Given the description of an element on the screen output the (x, y) to click on. 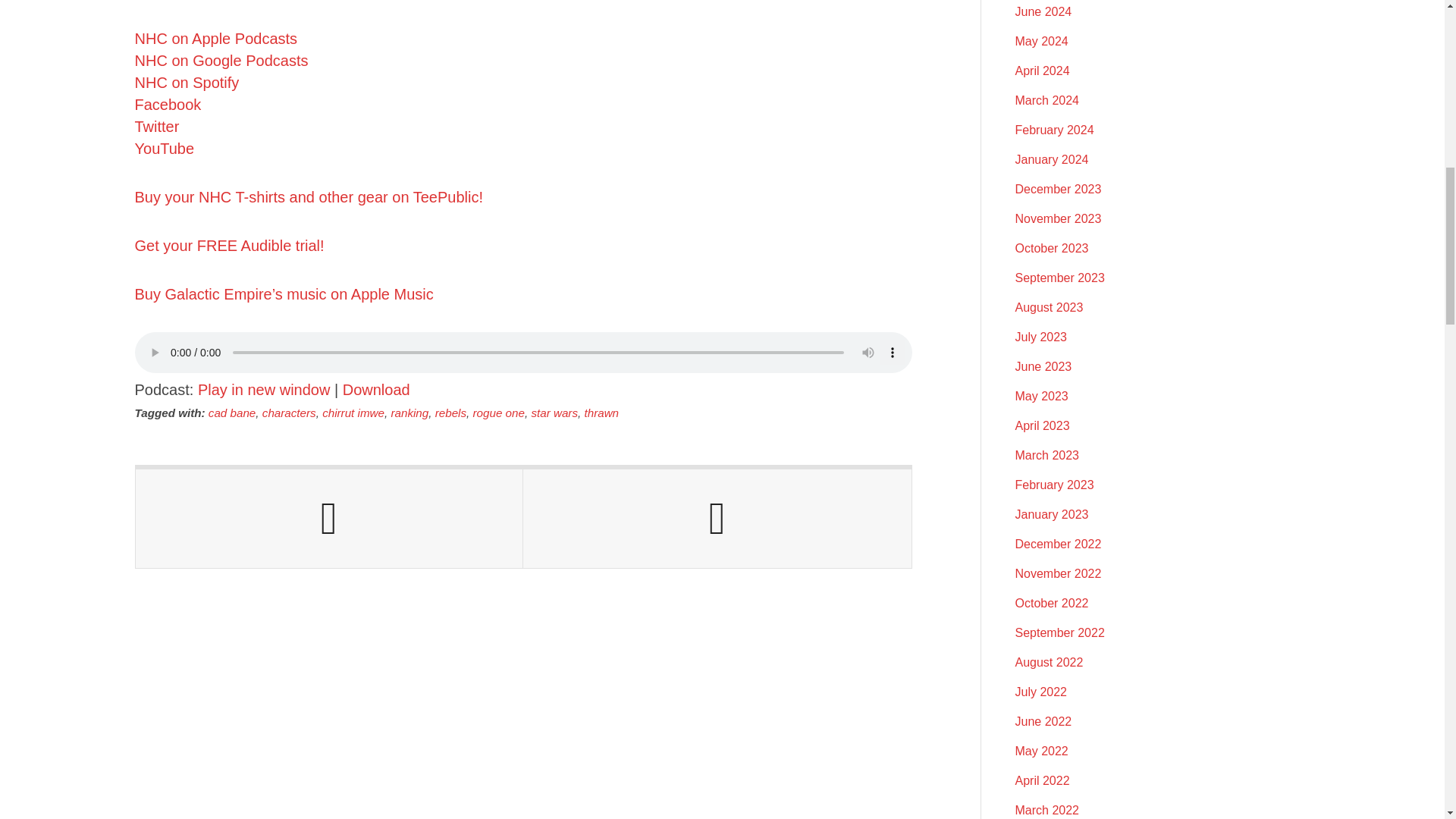
The Nerfherdfer Council on YouTube (165, 148)
Download (376, 389)
Get your free trial of Audible! (229, 245)
NHC on Spotify (187, 82)
ranking (409, 412)
Download (376, 389)
The Nerfherder Council on Spotify Podcasts (187, 82)
NHC on Google Podcasts (221, 60)
The Nerfherder Council on Twitter (157, 126)
NHC on Apple Podcasts (216, 38)
